Given the description of an element on the screen output the (x, y) to click on. 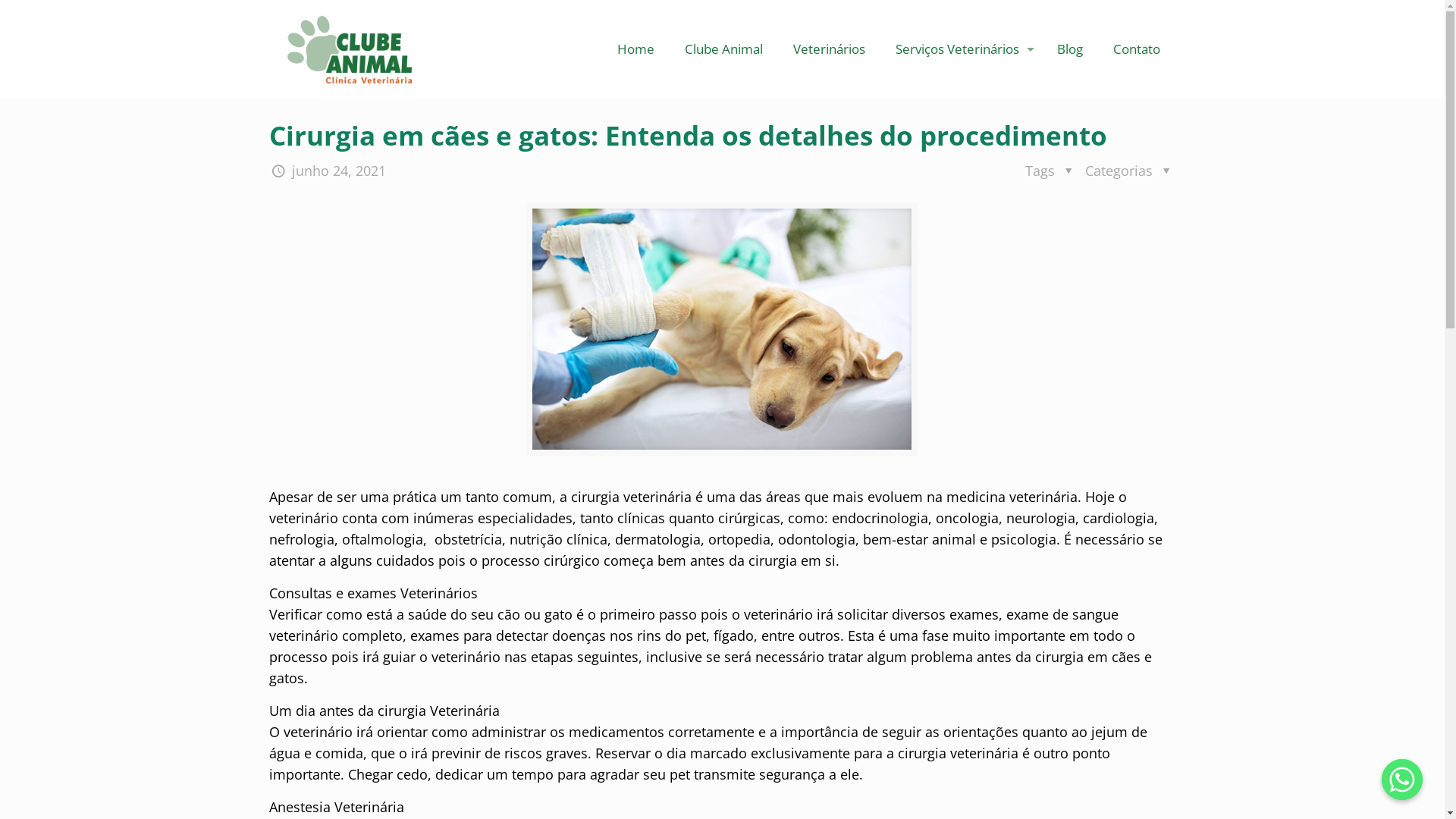
Home Element type: text (635, 49)
Blog Element type: text (1069, 49)
Clube Animal Element type: text (723, 49)
Contato Element type: text (1136, 49)
Clube Animal Element type: hover (350, 49)
